Given the description of an element on the screen output the (x, y) to click on. 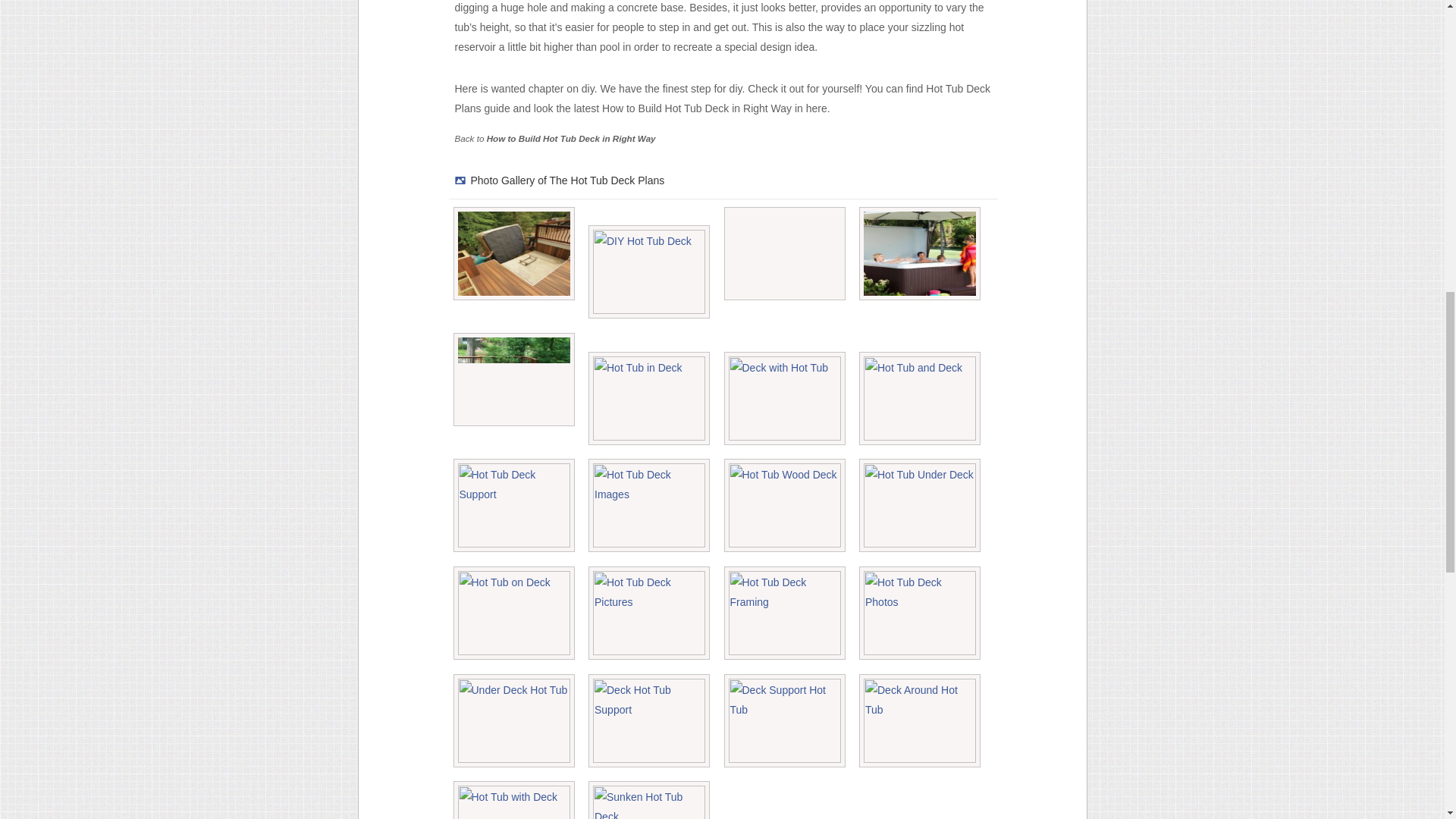
Return to How to Build Hot Tub Deck in Right Way (571, 138)
here (816, 108)
How to Build Hot Tub Deck in Right Way (571, 138)
